Given the description of an element on the screen output the (x, y) to click on. 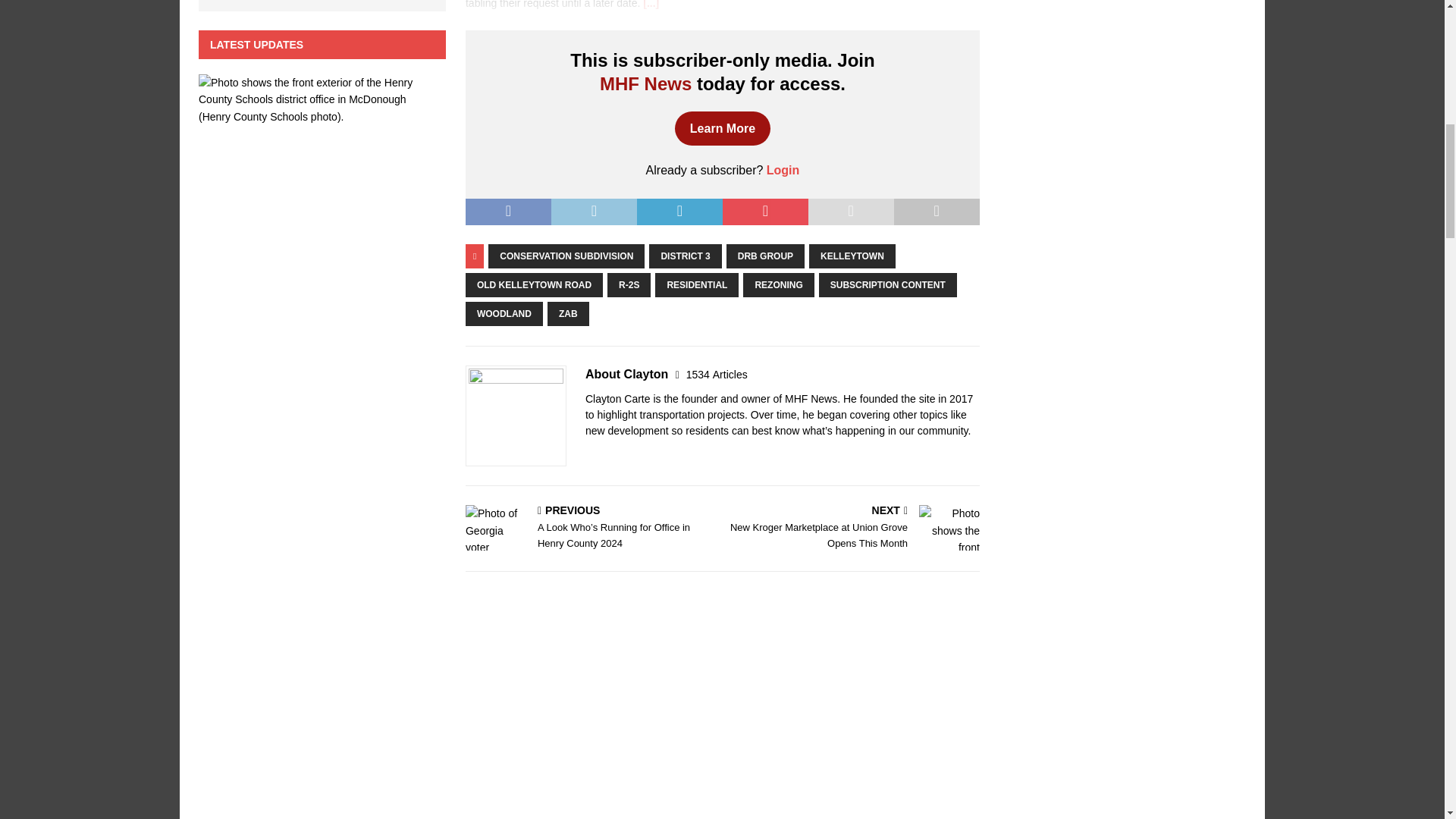
Old Kelleytown Road Subdivision on the March 14 Agenda (651, 4)
Learn More (722, 128)
Login (783, 169)
